Given the description of an element on the screen output the (x, y) to click on. 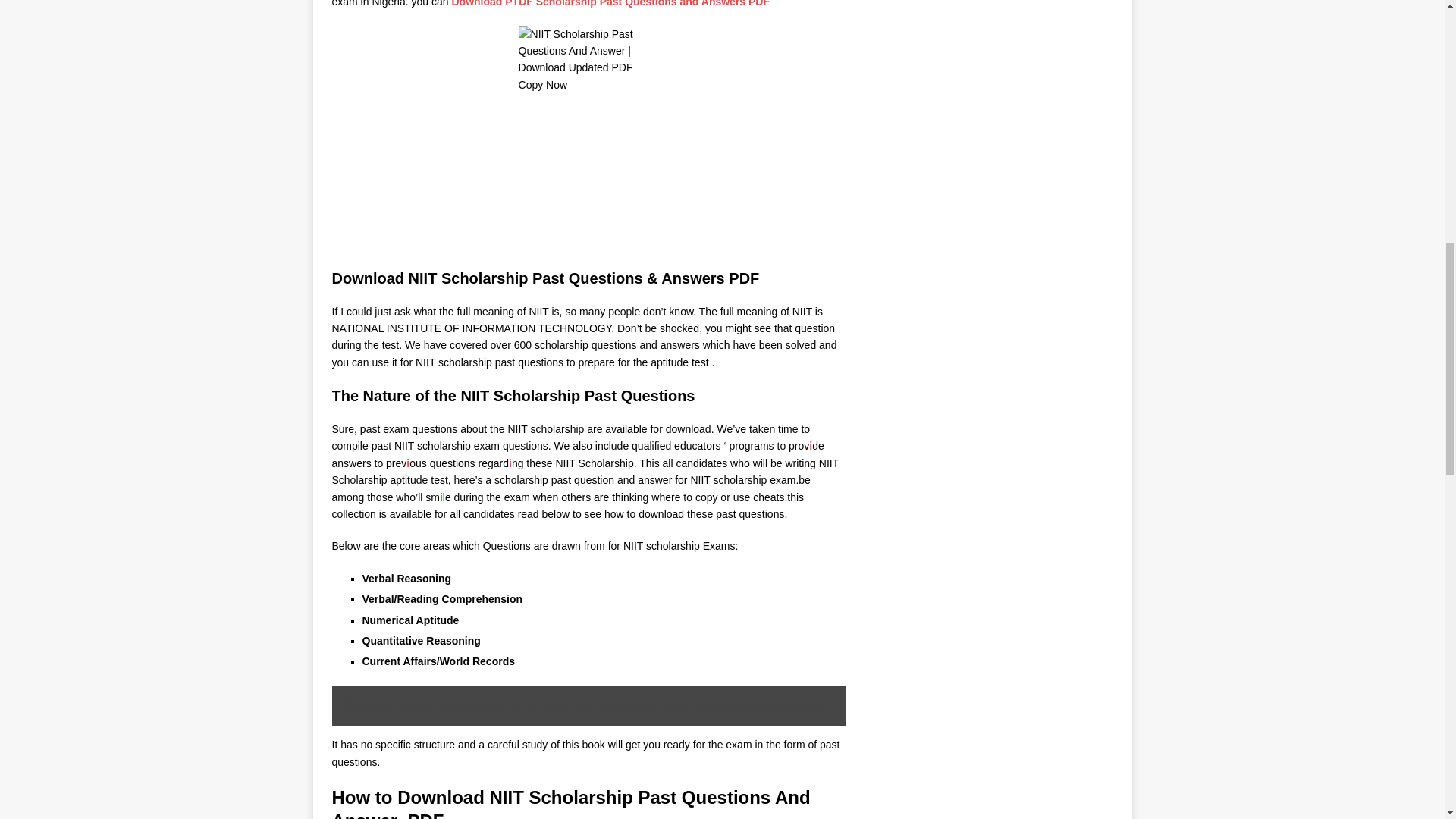
Download PTDF Scholarship Past Questions and Answers PDF (610, 3)
